Given the description of an element on the screen output the (x, y) to click on. 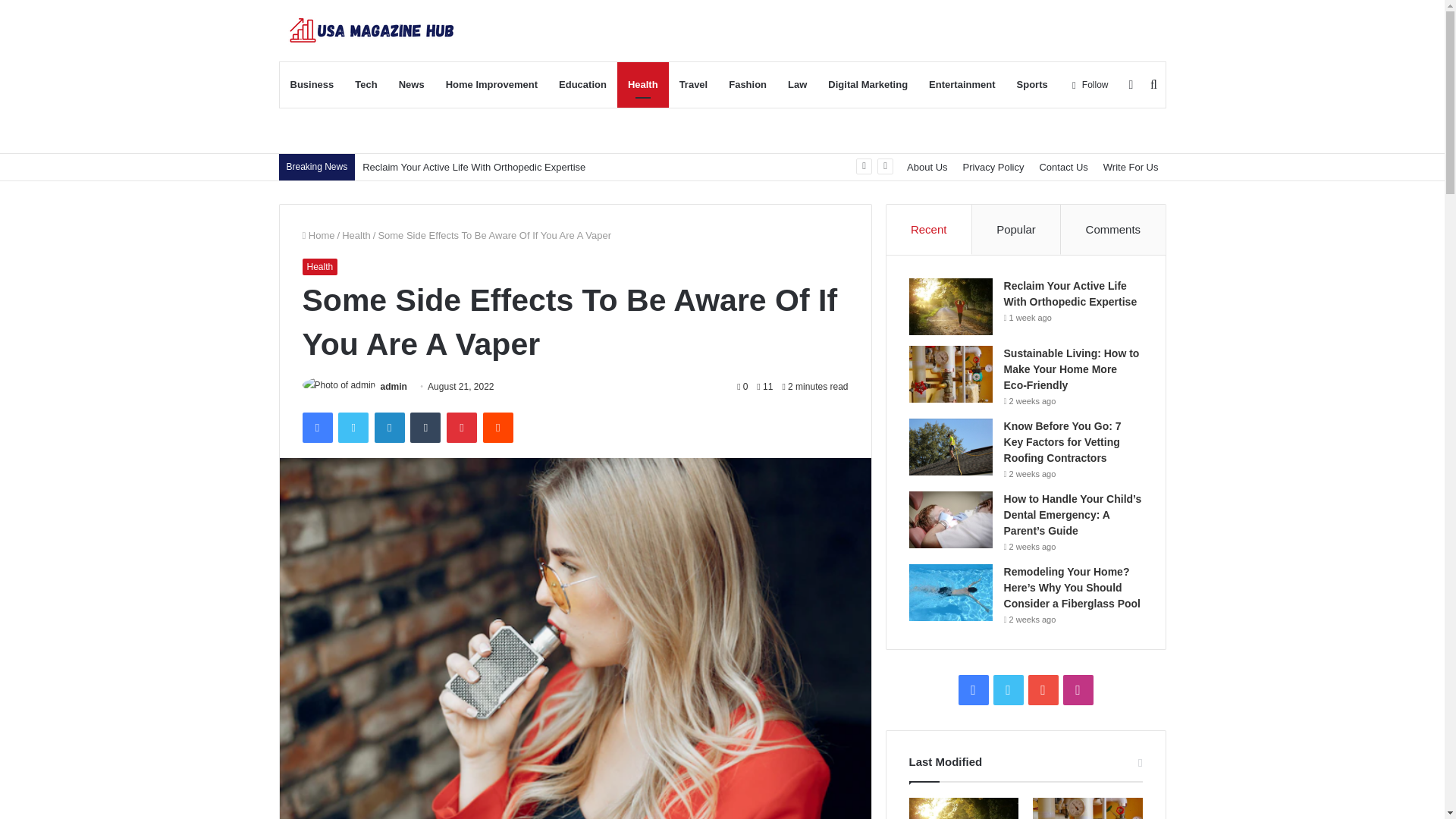
Facebook (316, 427)
Business (311, 84)
Follow (1090, 84)
admin (393, 386)
Facebook (316, 427)
Travel (693, 84)
Twitter (352, 427)
Education (582, 84)
LinkedIn (389, 427)
Home (317, 235)
